Given the description of an element on the screen output the (x, y) to click on. 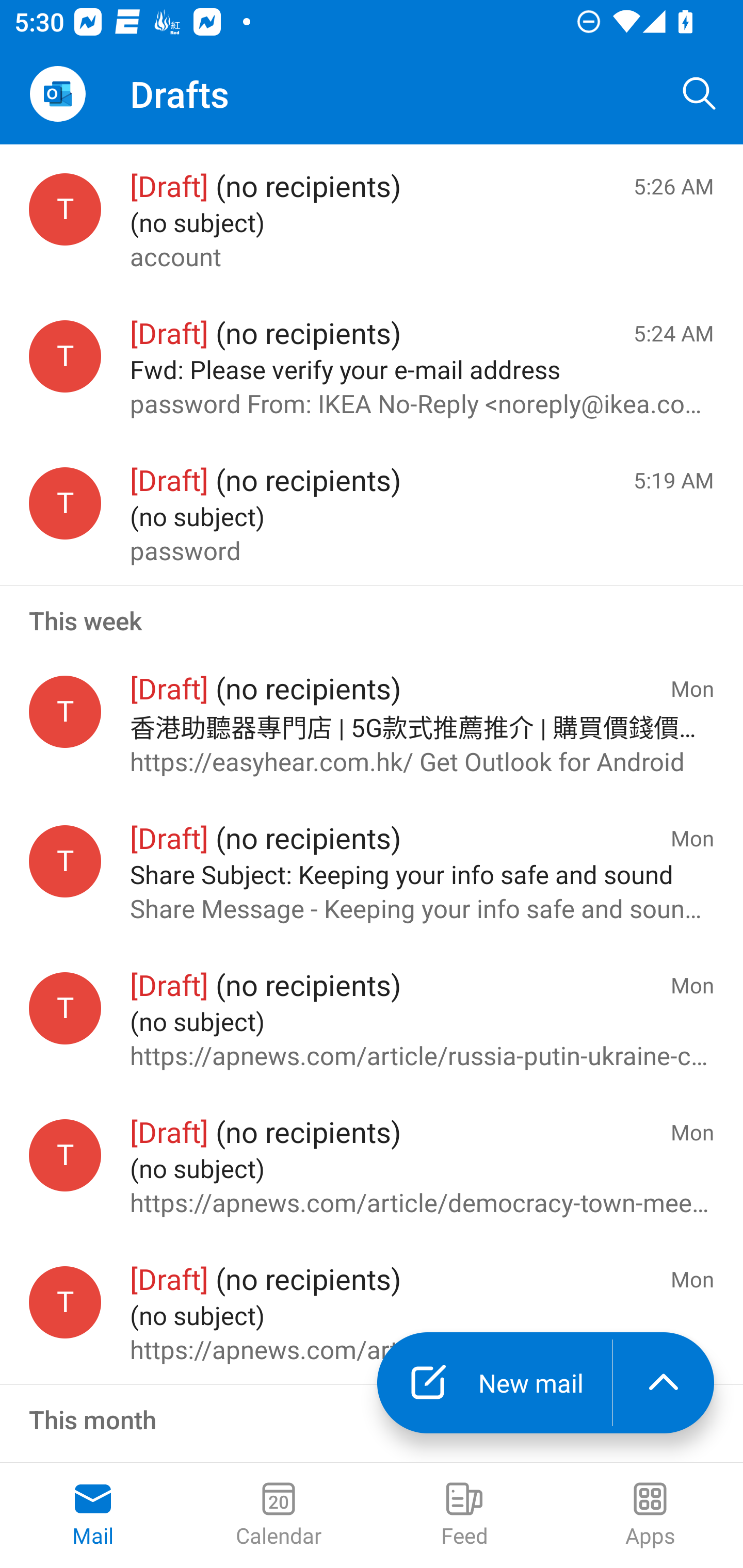
Search, ,  (699, 93)
Open Navigation Drawer (57, 94)
testappium002@outlook.com (64, 210)
testappium002@outlook.com (64, 355)
testappium002@outlook.com (64, 503)
testappium002@outlook.com (64, 711)
testappium002@outlook.com (64, 860)
testappium002@outlook.com (64, 1008)
testappium002@outlook.com (64, 1155)
testappium002@outlook.com (64, 1302)
New mail (494, 1382)
launch the extended action menu (663, 1382)
Calendar (278, 1515)
Feed (464, 1515)
Apps (650, 1515)
